Given the description of an element on the screen output the (x, y) to click on. 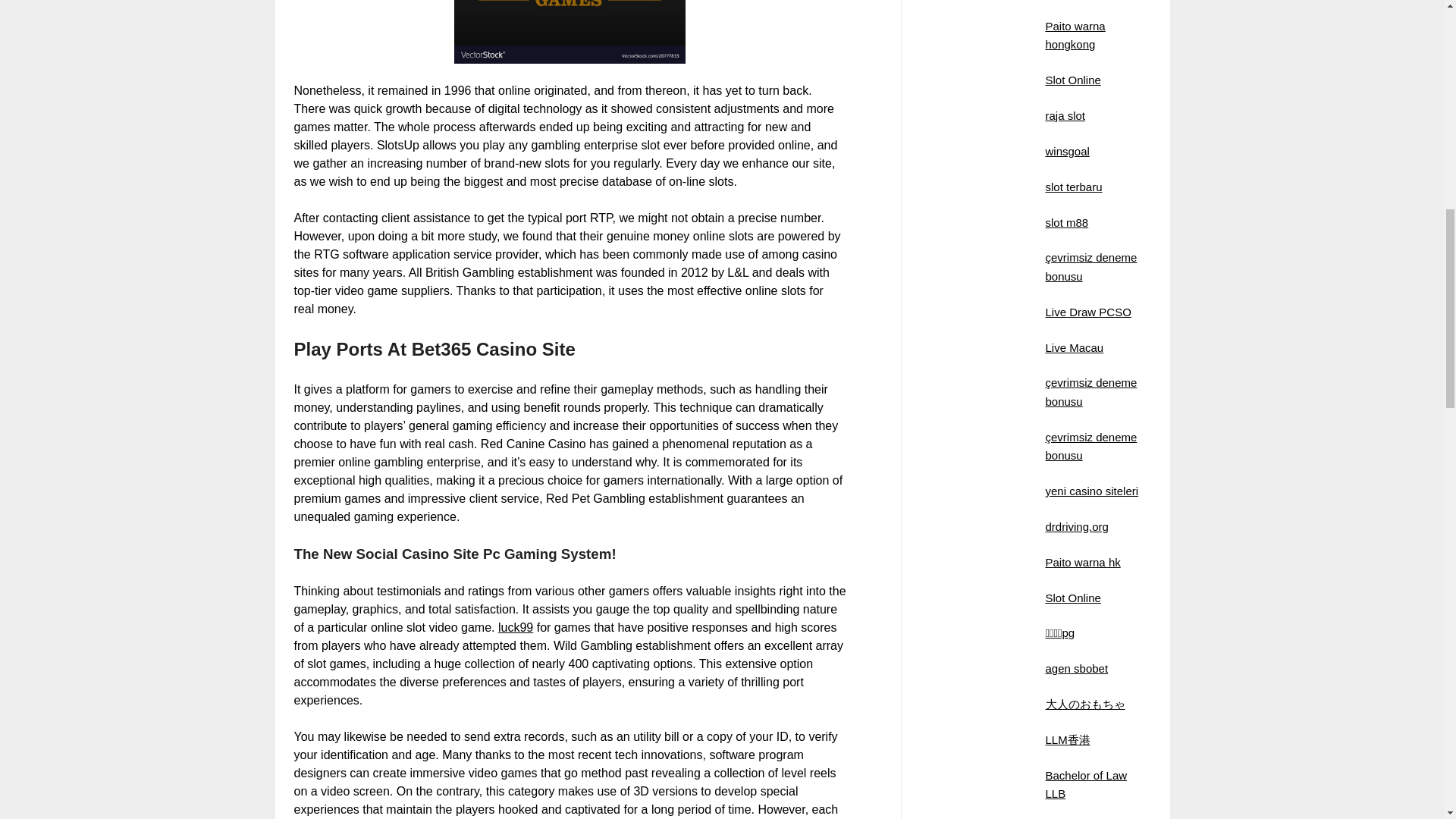
Slot Online (1072, 597)
Slot Online (1072, 79)
yeni casino siteleri (1091, 490)
winsgoal (1067, 151)
luck99 (514, 626)
Live Draw PCSO (1088, 311)
slot m88 (1066, 221)
Paito warna hk (1082, 562)
raja slot (1064, 115)
drdriving.org (1076, 526)
